Given the description of an element on the screen output the (x, y) to click on. 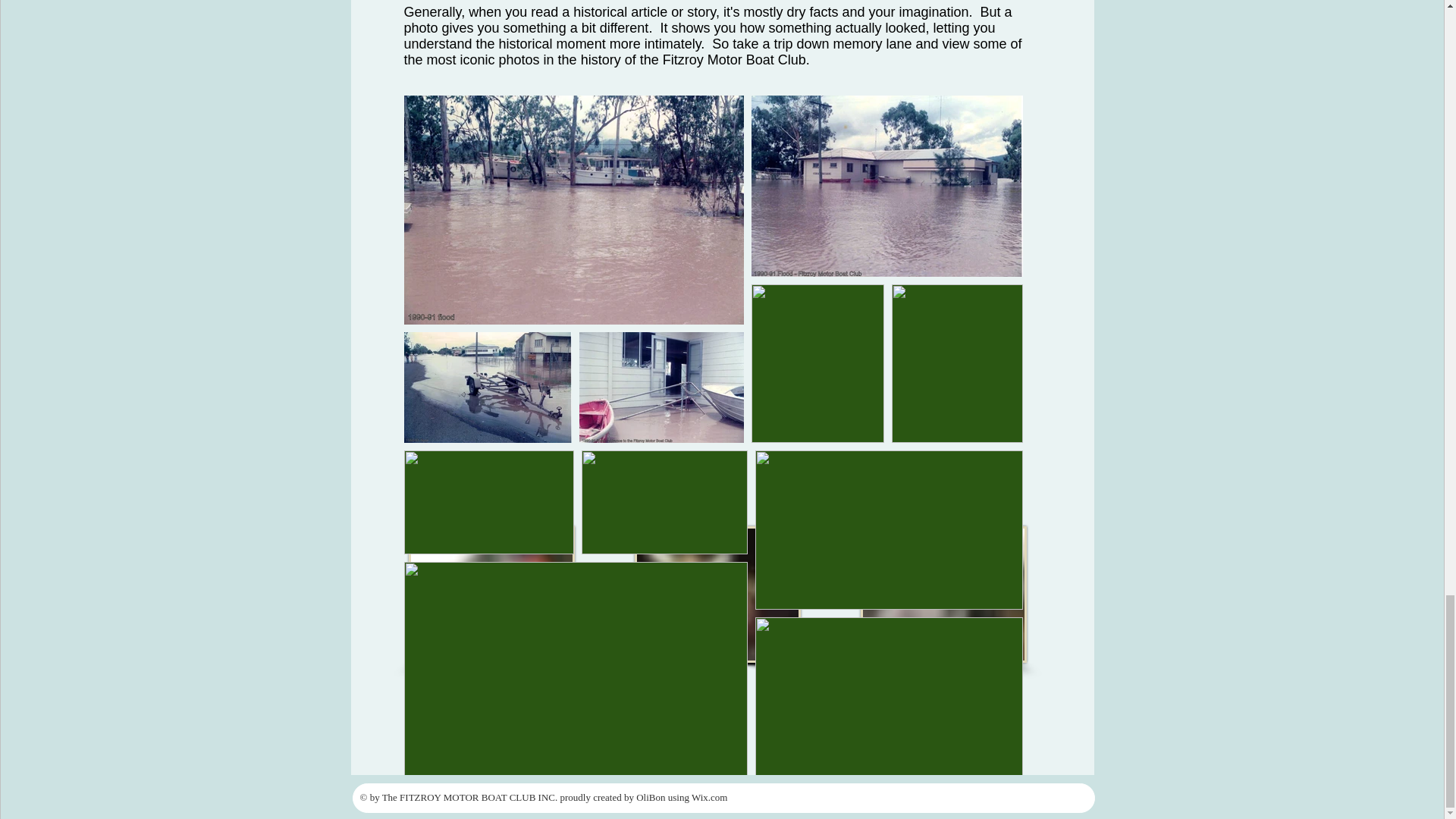
Wix.com (709, 797)
